Given the description of an element on the screen output the (x, y) to click on. 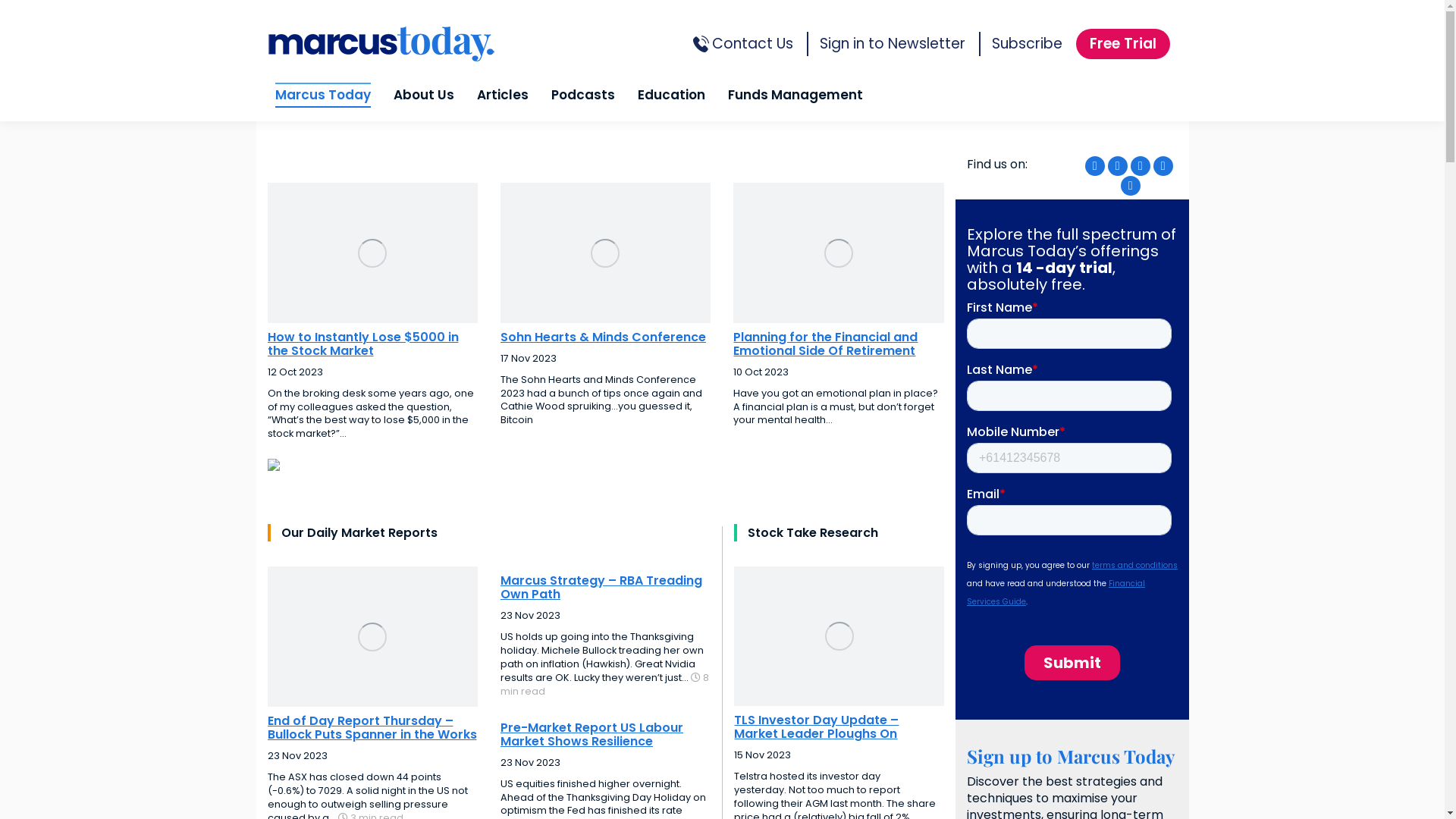
About Us Element type: text (423, 95)
Contact Us Element type: text (751, 44)
Sohn Hearts & Minds Conference Element type: text (605, 337)
Planning for the Financial and Emotional Side Of Retirement Element type: text (838, 343)
Form 0 Element type: hover (1071, 496)
Funds Management Element type: text (795, 95)
Education Element type: text (670, 95)
Instagram Element type: text (1163, 165)
Podcasts Element type: text (581, 95)
Sign in to Newsletter Element type: text (891, 43)
Free Trial Element type: text (1122, 43)
YouTube Element type: text (1140, 165)
How to Instantly Lose $5000 in the Stock Market Element type: text (371, 343)
Subscribe Element type: text (1026, 44)
Linkedin Element type: text (1130, 185)
Pre-Market Report US Labour Market Shows Resilience Element type: text (605, 734)
Twitter Element type: text (1117, 165)
Facebook Element type: text (1094, 165)
Marcus Today Element type: text (321, 95)
Articles Element type: text (501, 95)
